Given the description of an element on the screen output the (x, y) to click on. 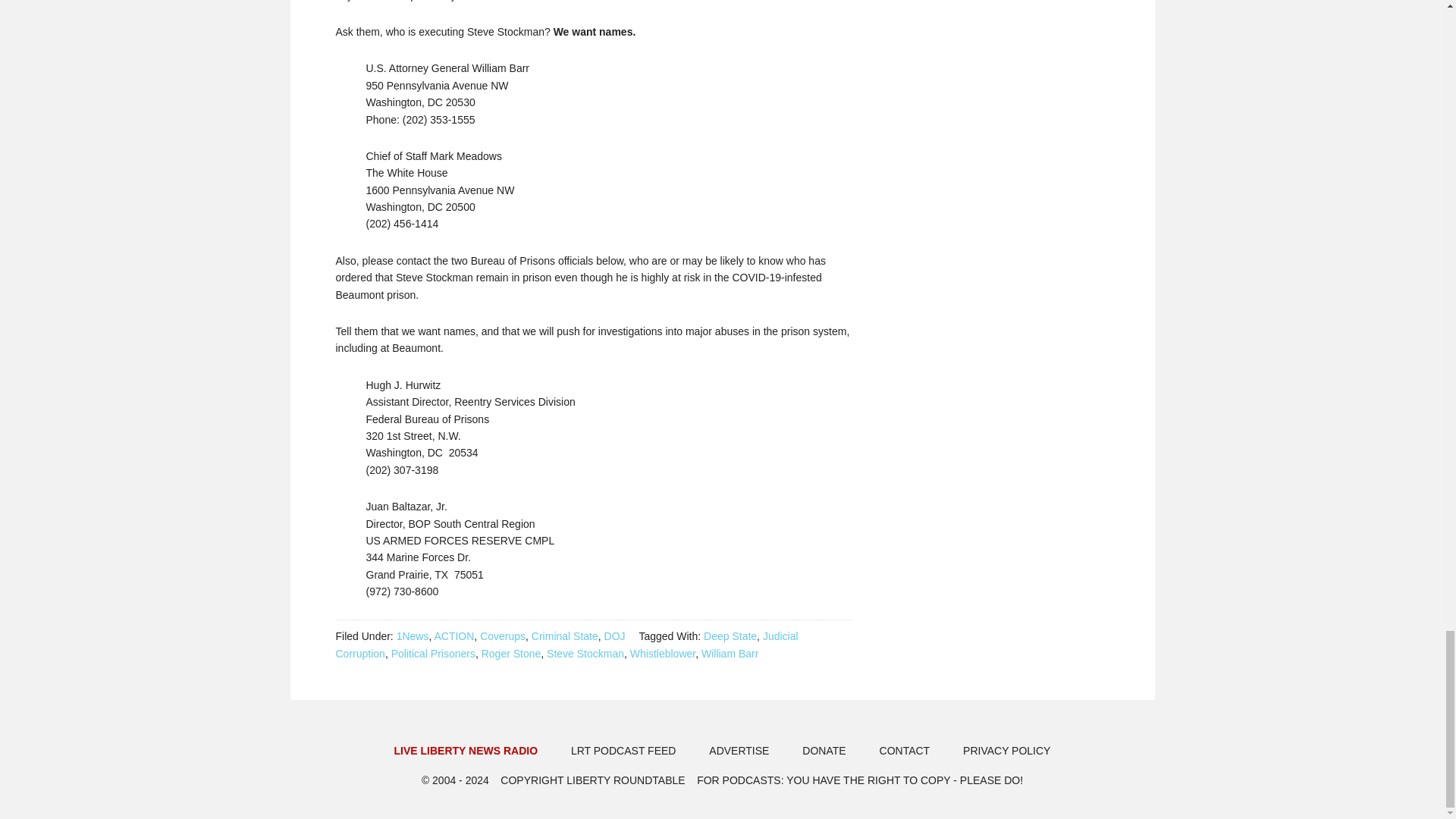
ACTION (453, 635)
Political Prisoners (433, 653)
Coverups (502, 635)
DOJ (615, 635)
Whistleblower (662, 653)
Criminal State (564, 635)
Judicial Corruption (565, 644)
Deep State (730, 635)
1News (412, 635)
Steve Stockman (585, 653)
William Barr (729, 653)
Roger Stone (511, 653)
